Given the description of an element on the screen output the (x, y) to click on. 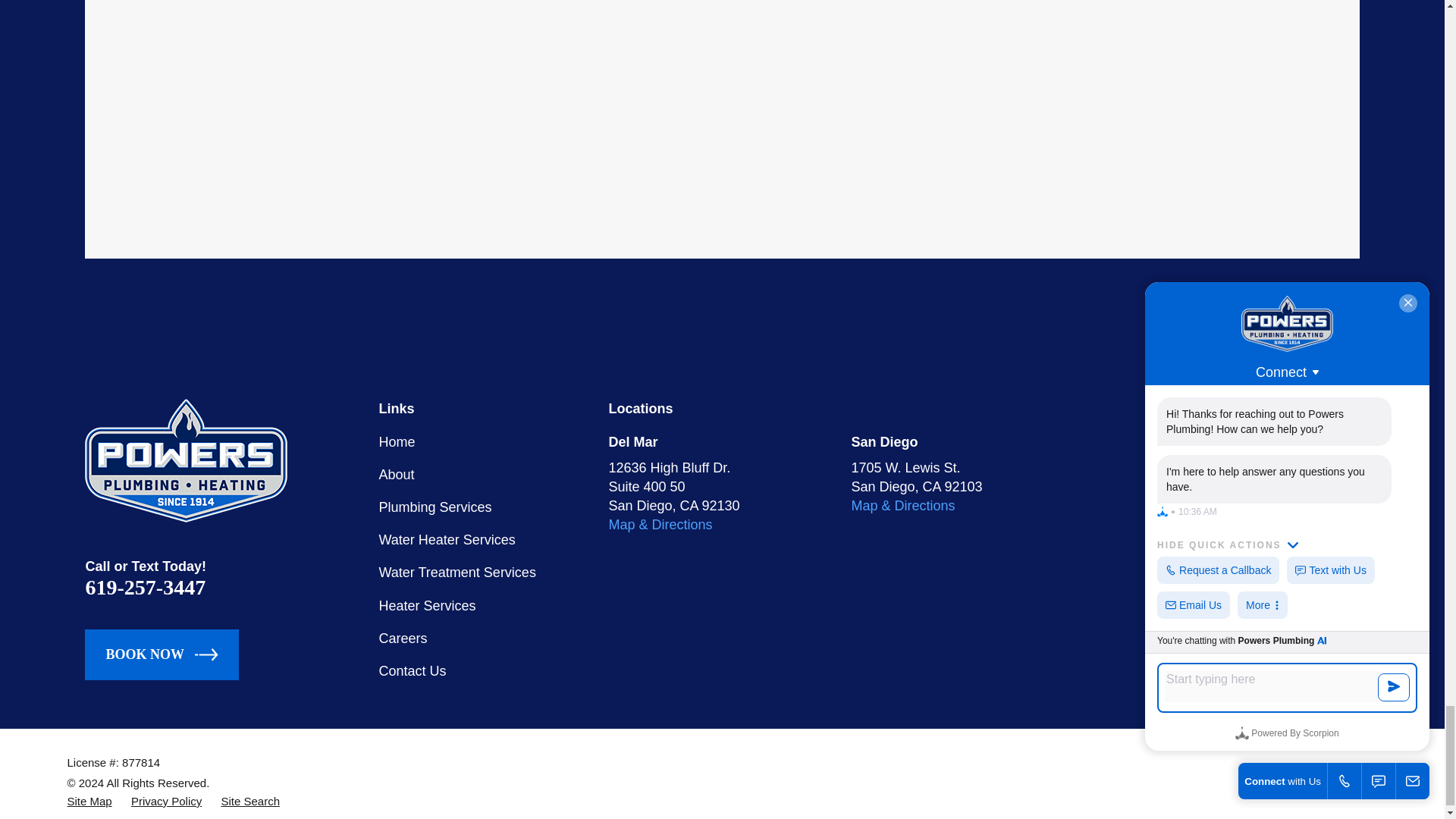
Home (185, 460)
